Given the description of an element on the screen output the (x, y) to click on. 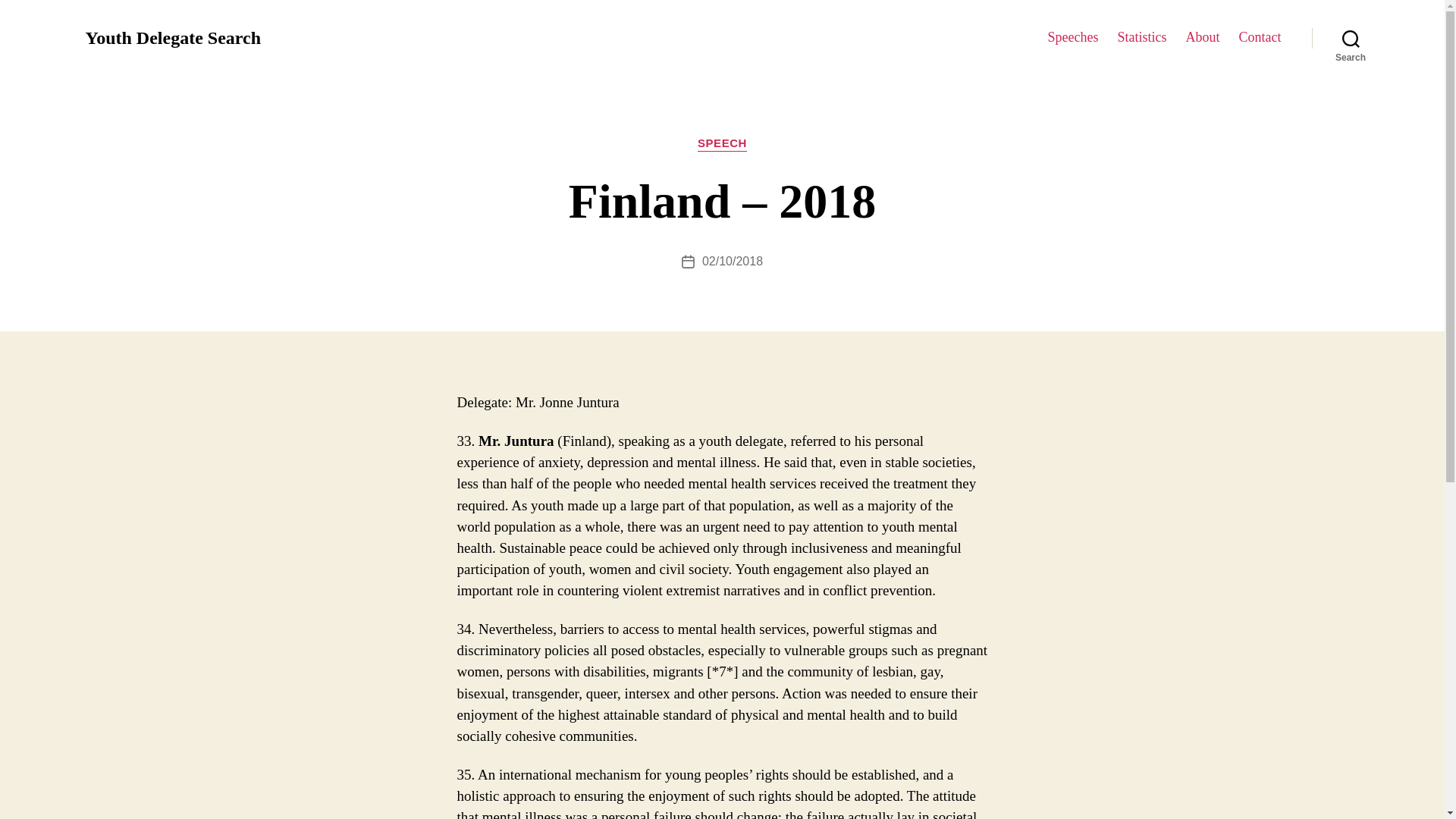
About (1203, 37)
Youth Delegate Search (172, 37)
Statistics (1141, 37)
Contact (1260, 37)
Speeches (1073, 37)
Search (1350, 37)
SPEECH (721, 143)
